Given the description of an element on the screen output the (x, y) to click on. 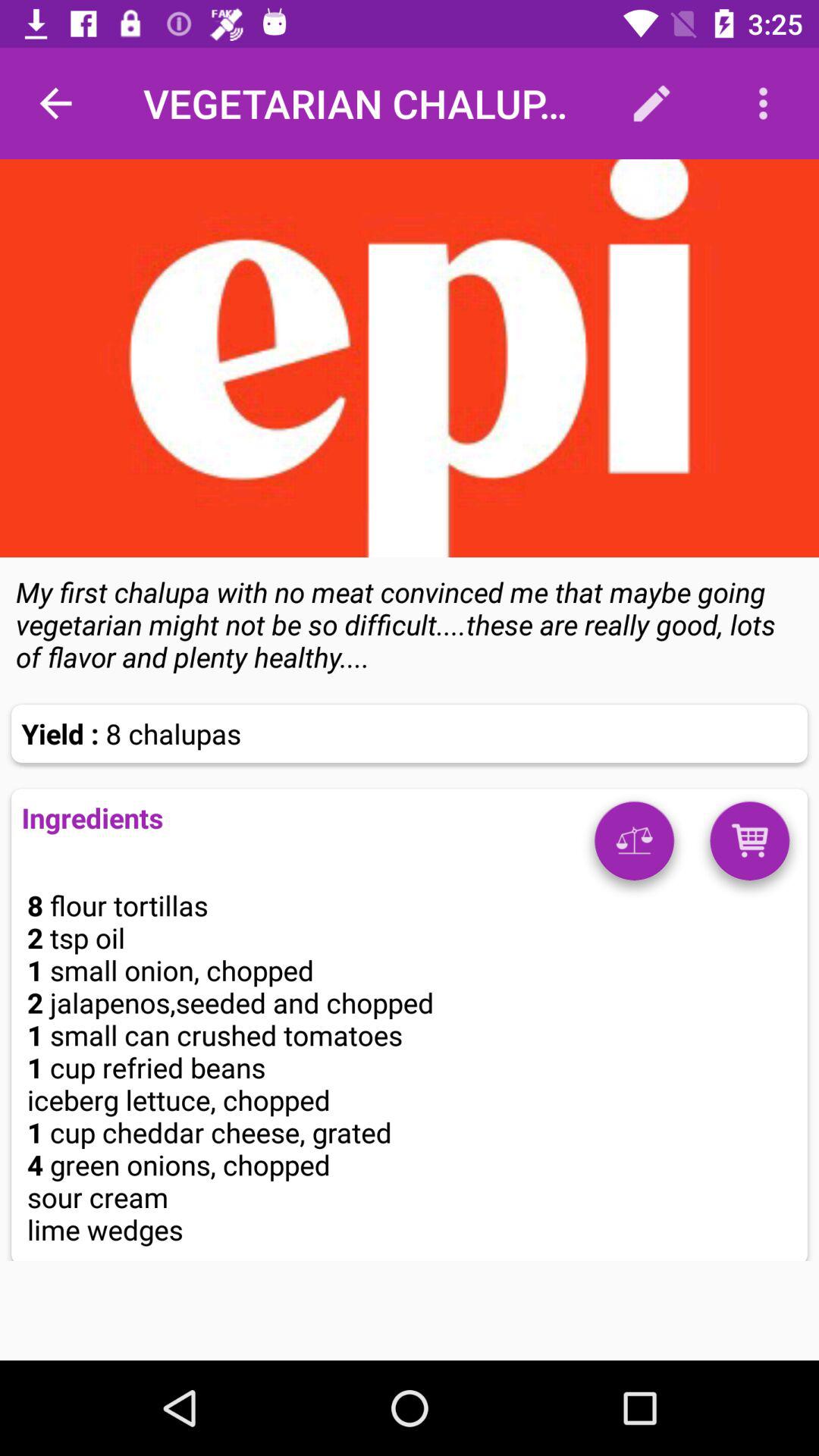
choose the item above my first chalupa item (409, 358)
